Given the description of an element on the screen output the (x, y) to click on. 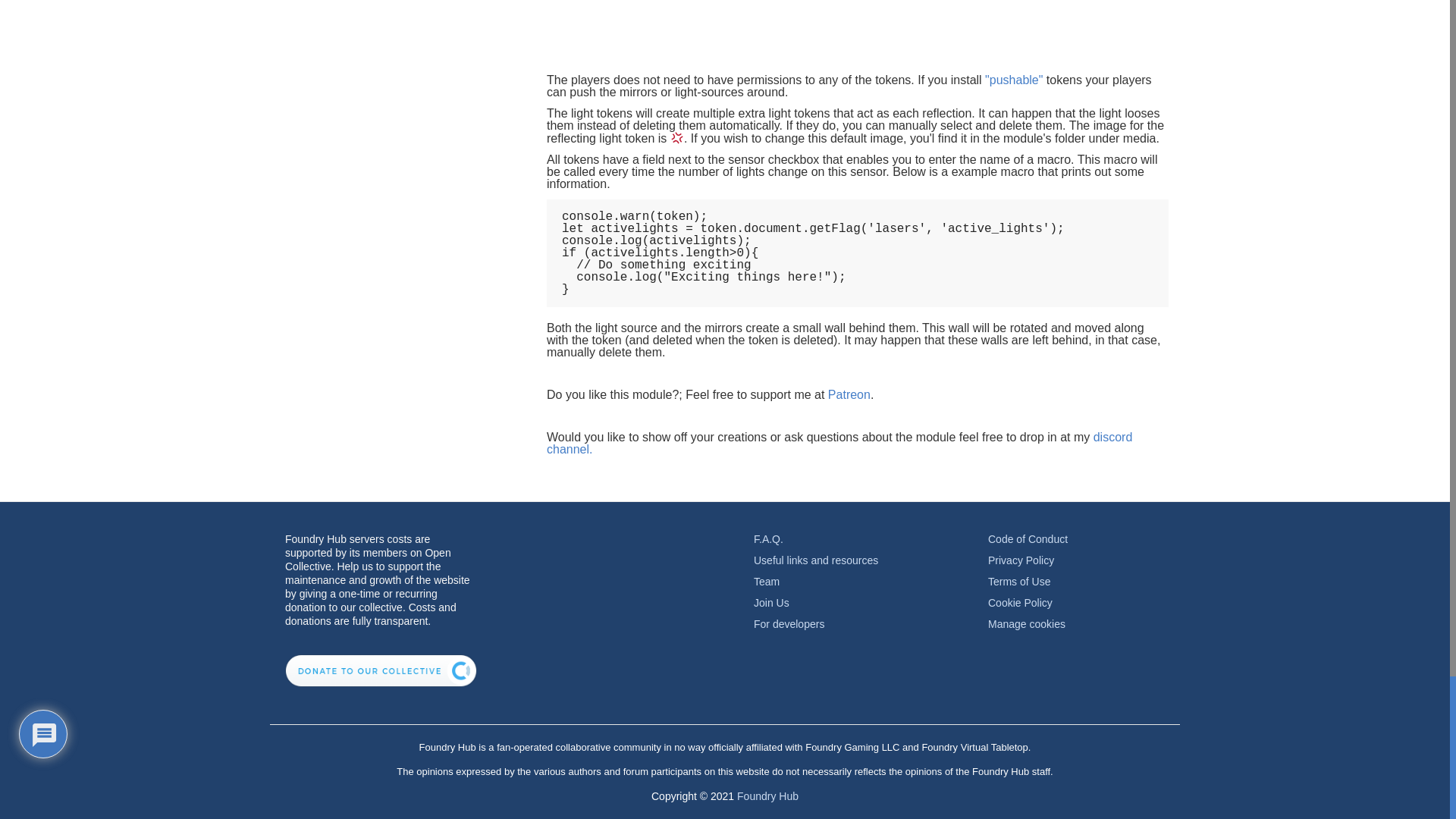
"pushable" (1013, 79)
discord channel. (839, 442)
Patreon (849, 394)
